Given the description of an element on the screen output the (x, y) to click on. 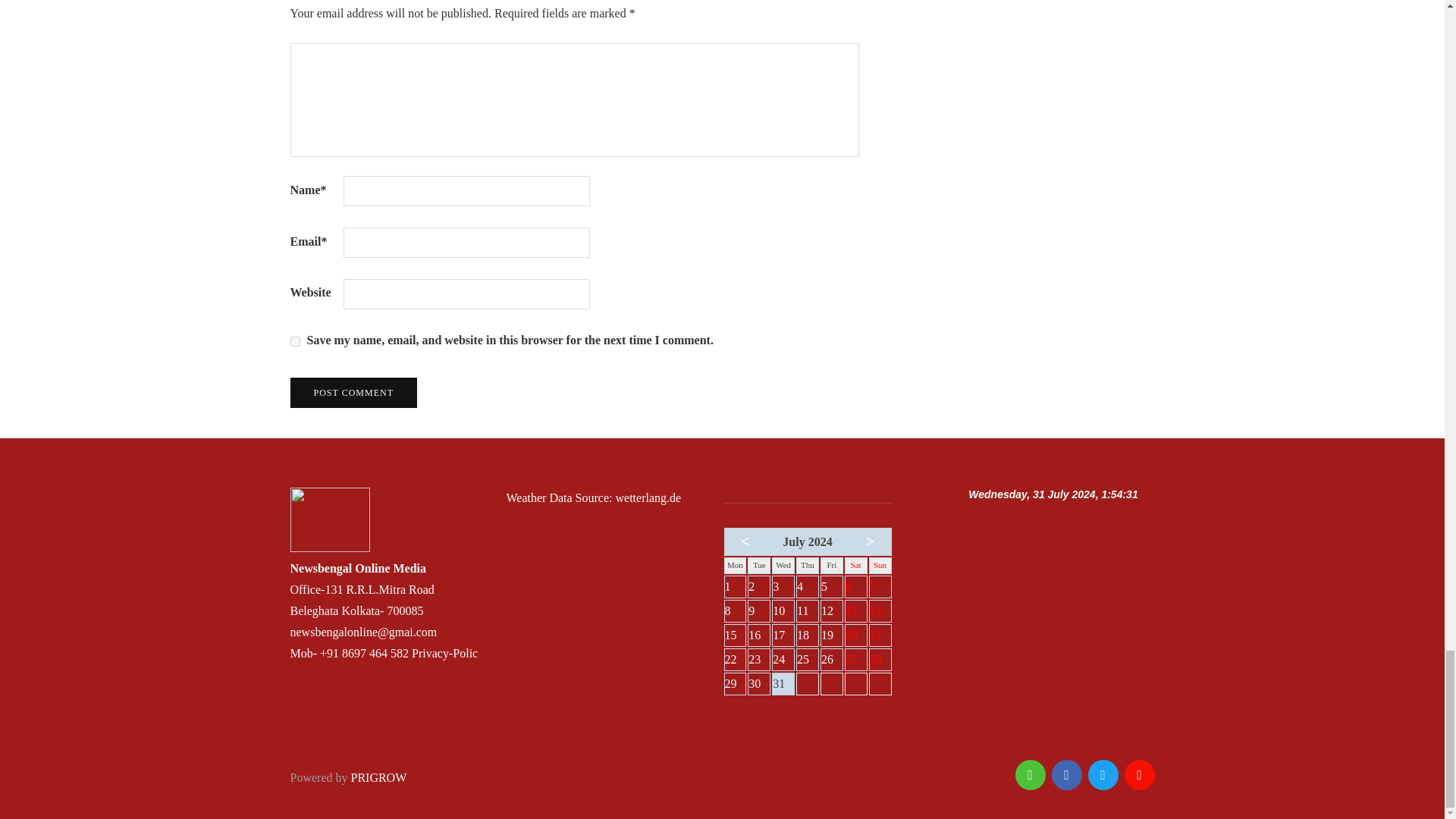
Post comment (352, 392)
yes (294, 341)
